Given the description of an element on the screen output the (x, y) to click on. 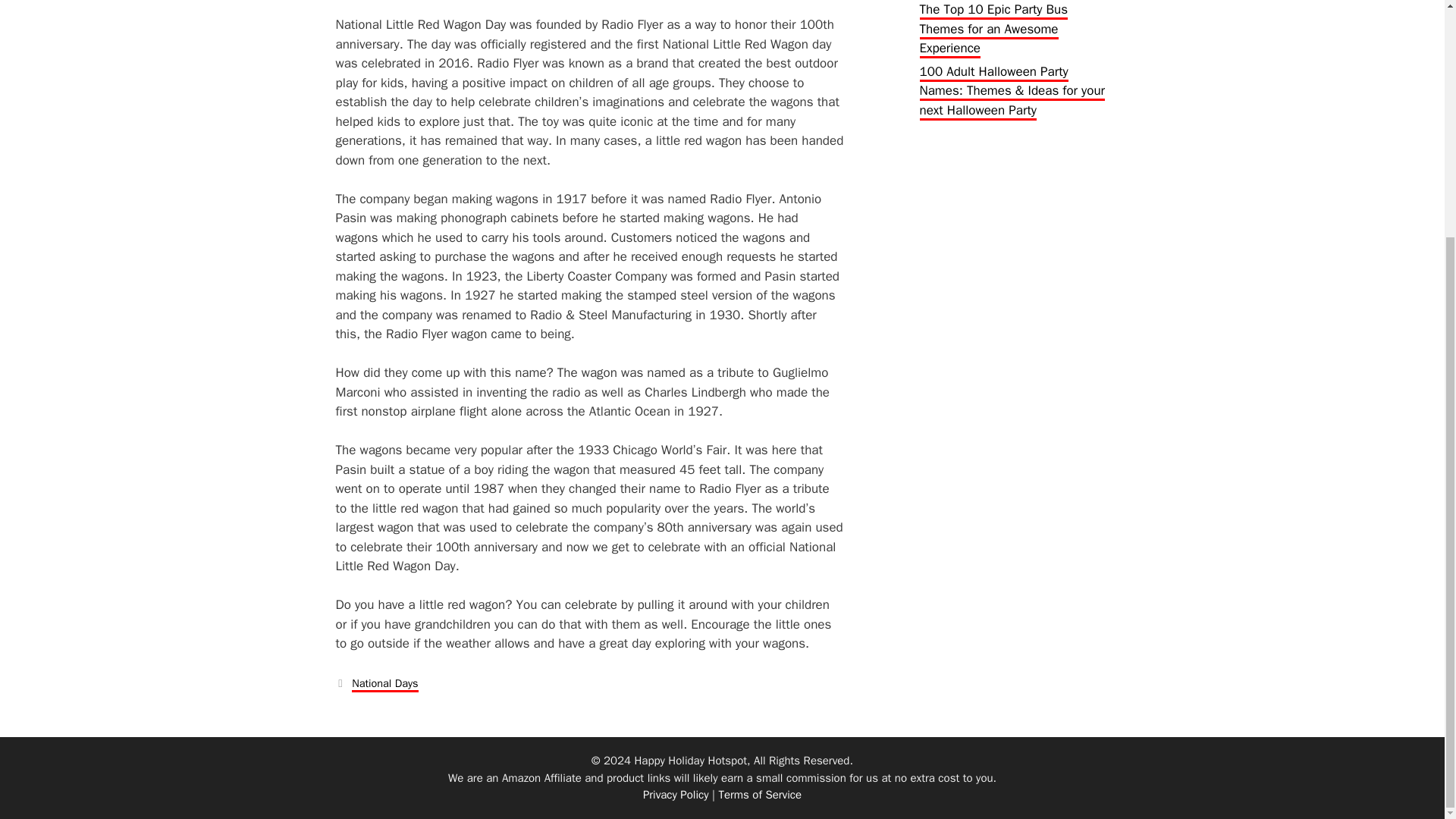
Terms of Service (759, 794)
The Top 10 Epic Party Bus Themes for an Awesome Experience (992, 29)
National Days (384, 684)
Privacy Policy (676, 794)
